Given the description of an element on the screen output the (x, y) to click on. 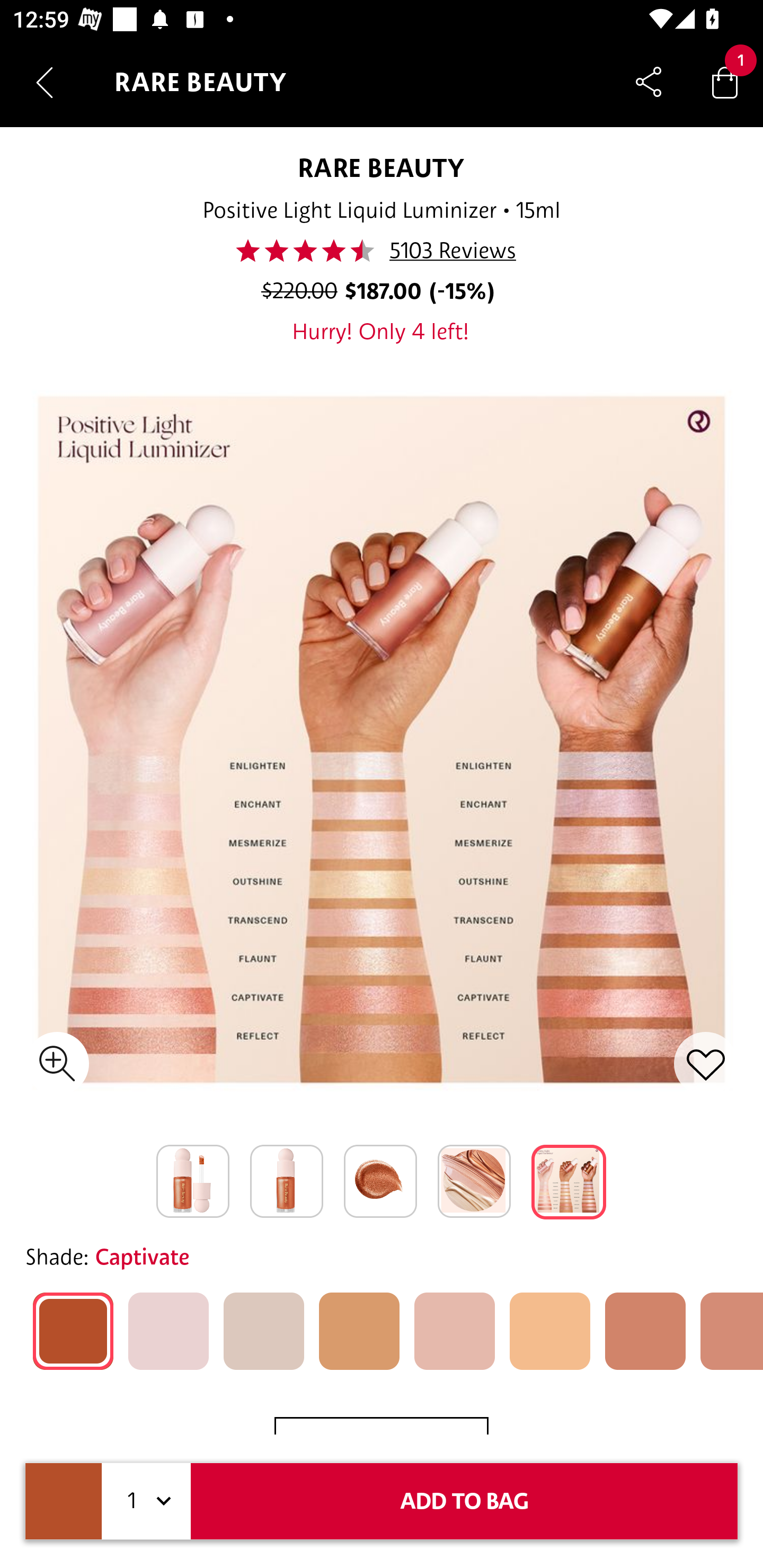
Navigate up (44, 82)
Share (648, 81)
Bag (724, 81)
RARE BEAUTY (381, 167)
45.0 5103 Reviews (380, 250)
1 (145, 1500)
ADD TO BAG (463, 1500)
